Given the description of an element on the screen output the (x, y) to click on. 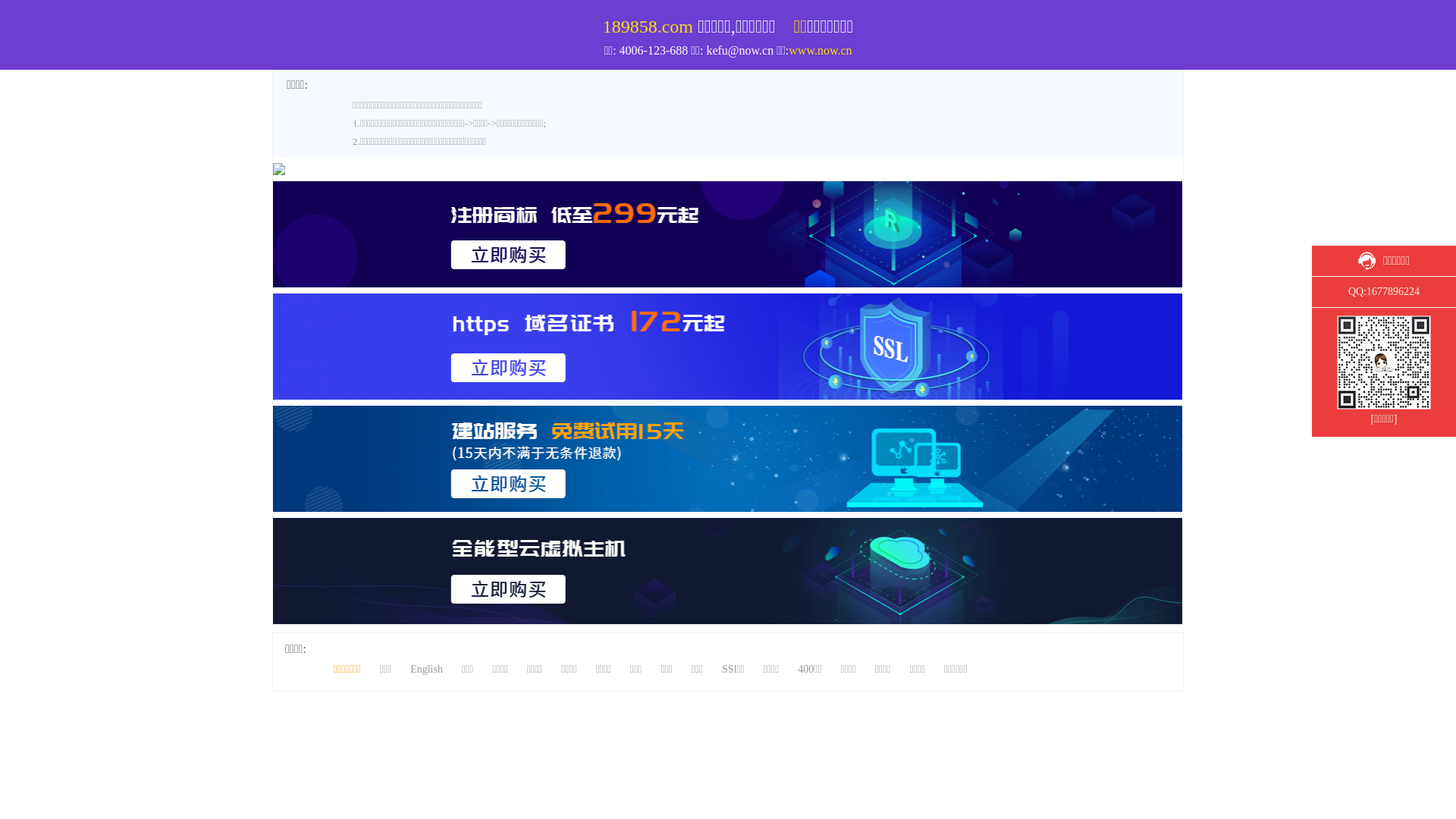
English Element type: text (1323, 6)
English Element type: text (426, 668)
www.now.cn Element type: text (819, 49)
